Given the description of an element on the screen output the (x, y) to click on. 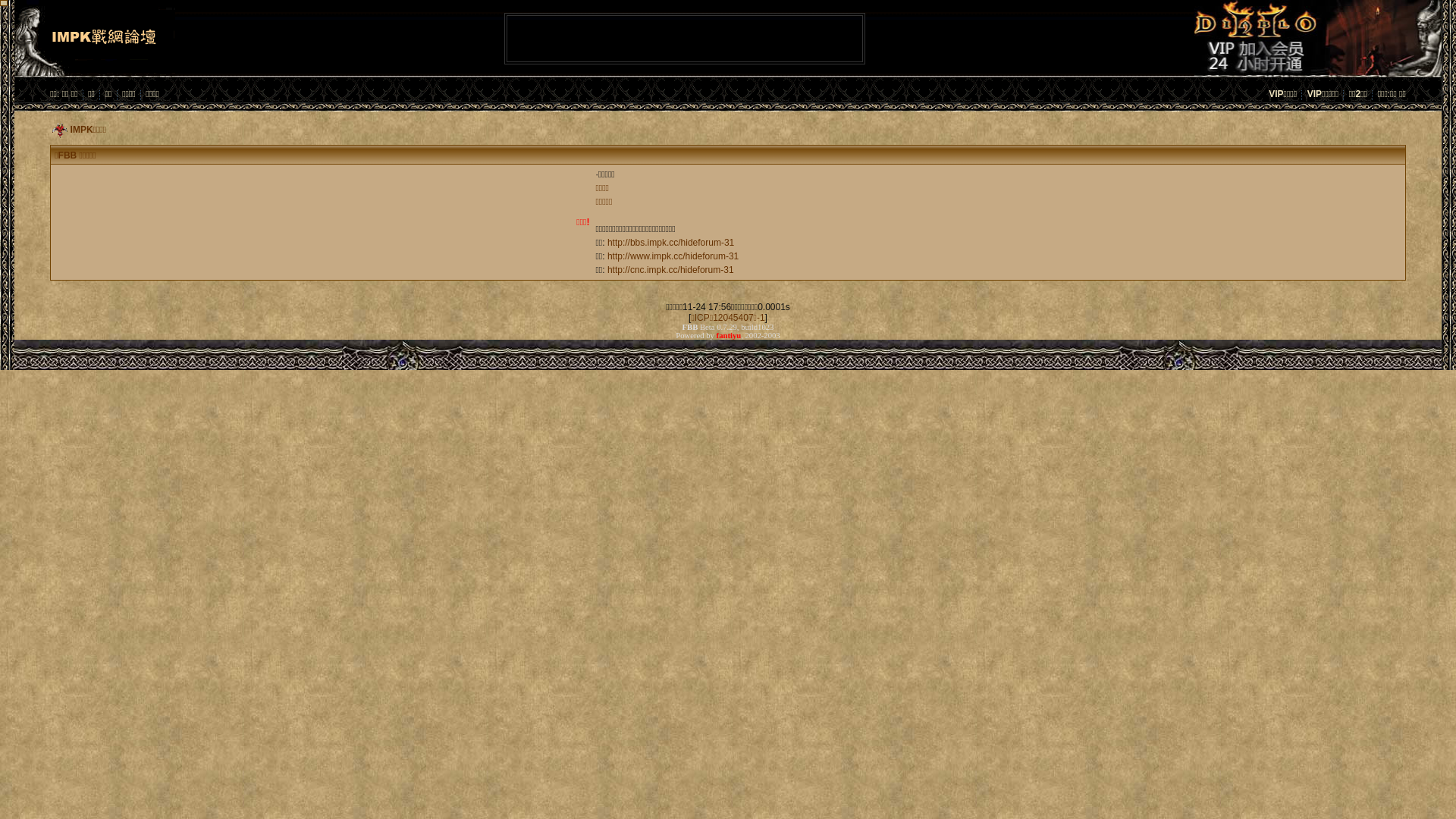
http://cnc.impk.cc/hideforum-31 Element type: text (670, 269)
http://www.impk.cc/hideforum-31 Element type: text (672, 256)
http://bbs.impk.cc/hideforum-31 Element type: text (670, 242)
